Given the description of an element on the screen output the (x, y) to click on. 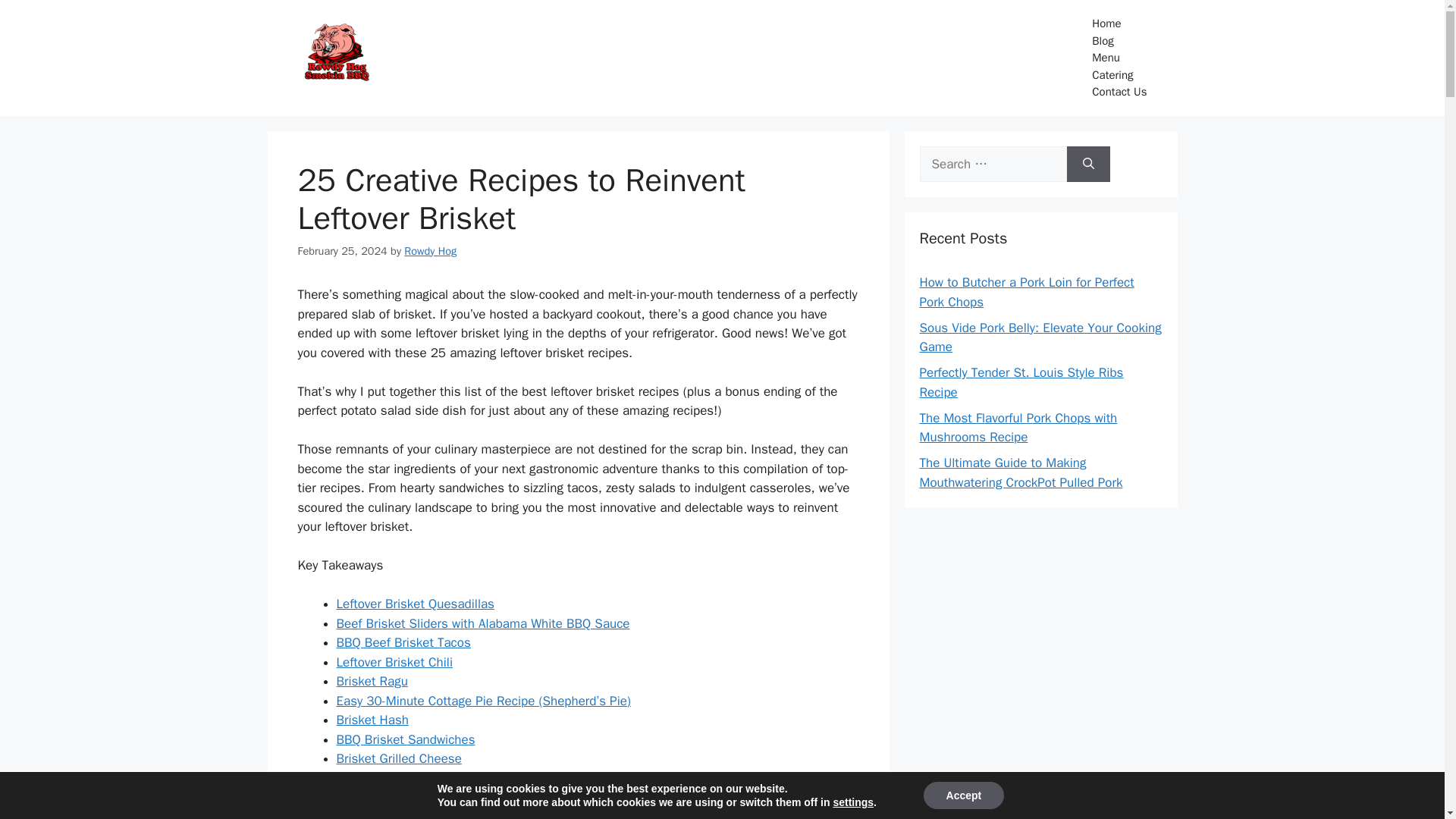
Menu (1119, 57)
BBQ Brisket Sandwiches (406, 739)
BBQ Beef Brisket Tacos (403, 642)
Brisket Hash (372, 719)
Search for: (991, 163)
Brisket Ragu (371, 681)
Beef Bowl Recipe with BBQ Brisket (434, 797)
Leftover Brisket Chili (394, 662)
Leftover Brisket Quesadillas (415, 603)
Catering (1119, 75)
